Given the description of an element on the screen output the (x, y) to click on. 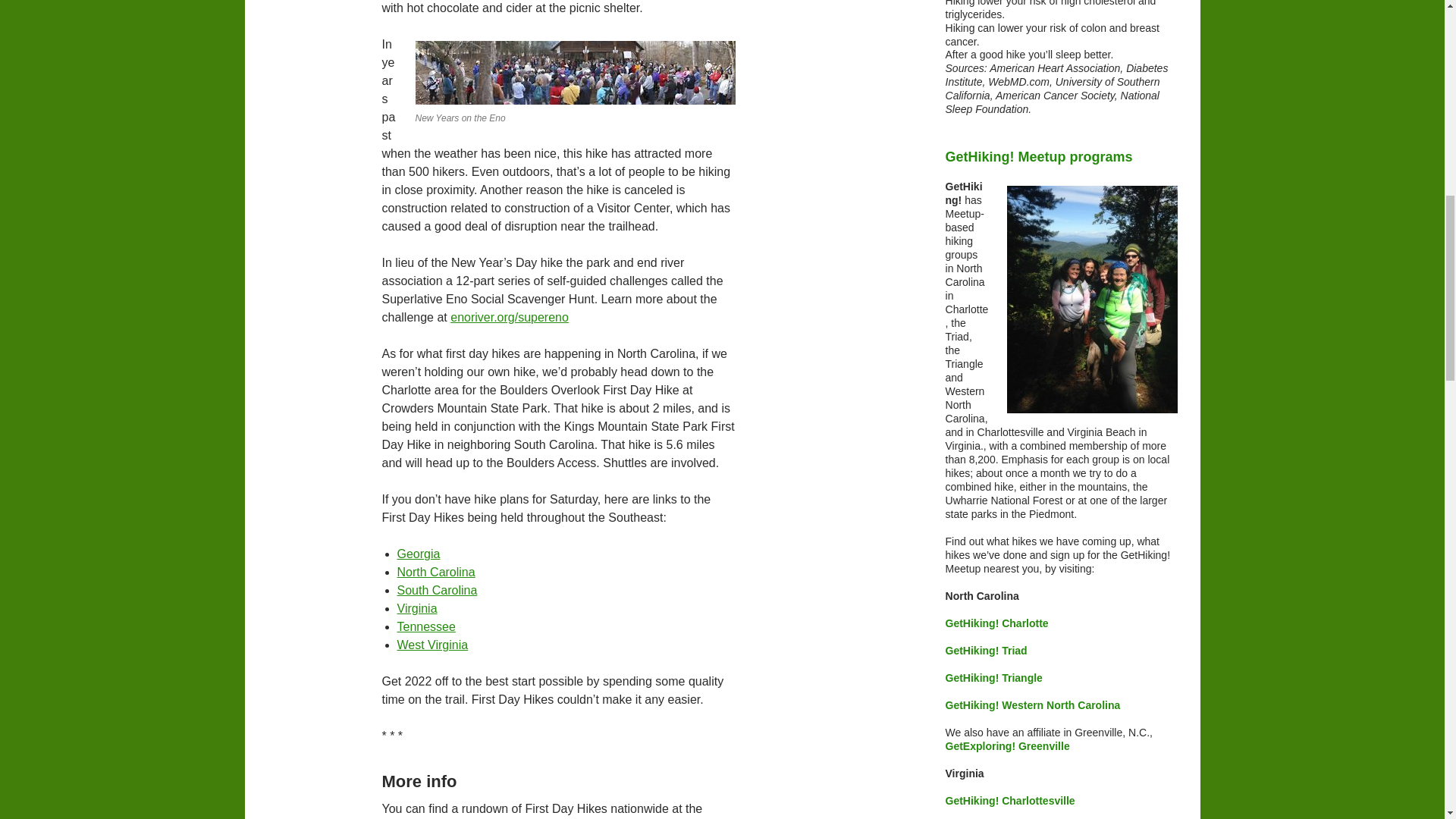
Tennessee (426, 626)
Virginia (417, 608)
GetHiking! Triad (985, 650)
GetHiking! Meetup programs (1060, 157)
South Carolina (437, 590)
North Carolina (436, 571)
GetHiking! Charlotte (996, 623)
Georgia (419, 553)
West Virginia (432, 644)
